Given the description of an element on the screen output the (x, y) to click on. 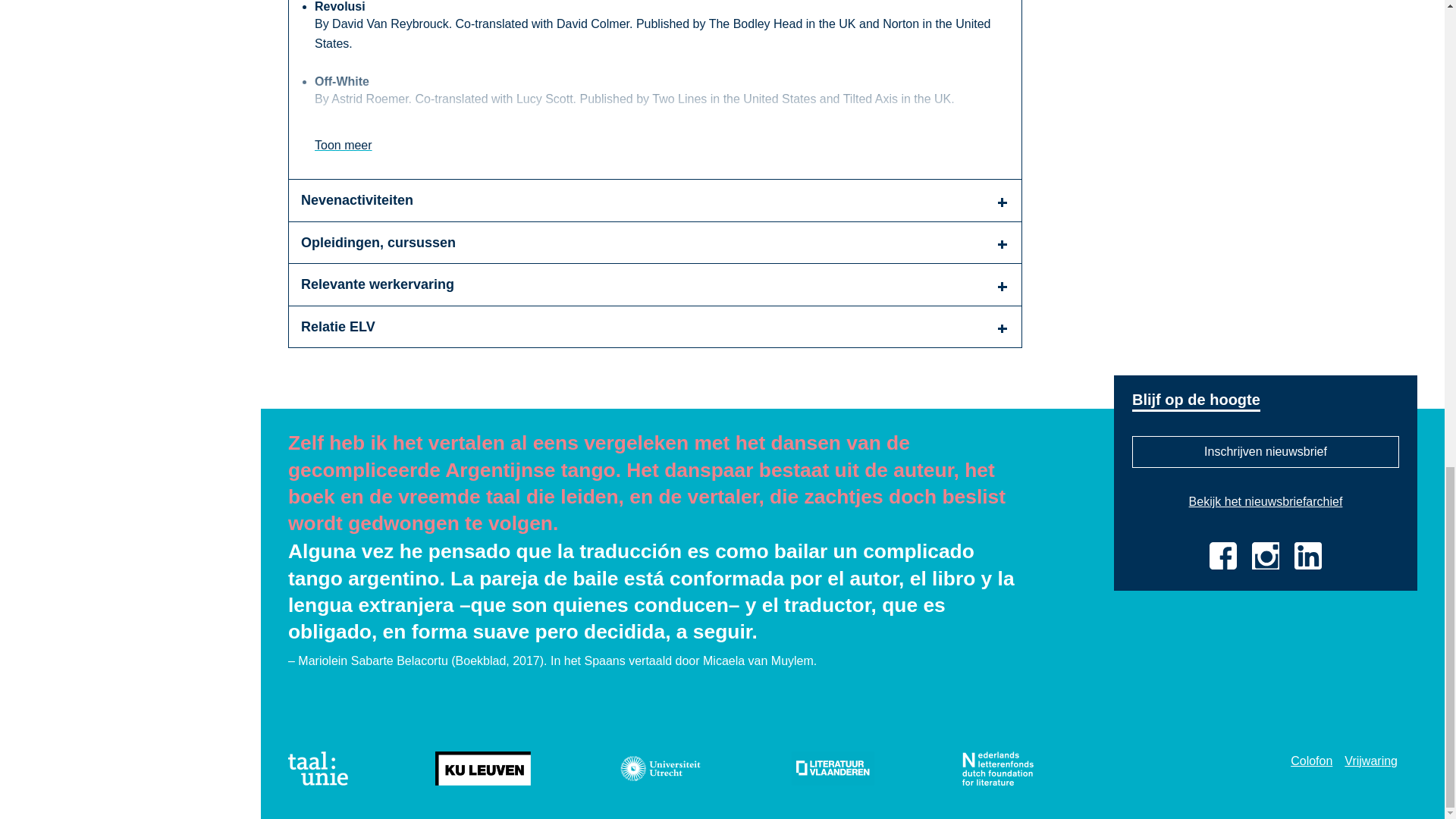
Opleidingen, cursussen (655, 242)
Relevante werkervaring (655, 284)
Facebook (1222, 555)
Colofon (1311, 760)
Linkedin (1308, 555)
Instagram (1265, 555)
Bekijk het nieuwsbriefarchief (1265, 501)
Toon meer (343, 145)
Vrijwaring (1370, 760)
Inschrijven nieuwsbrief (1265, 451)
Relatie ELV (655, 327)
Nevenactiviteiten (655, 200)
